Given the description of an element on the screen output the (x, y) to click on. 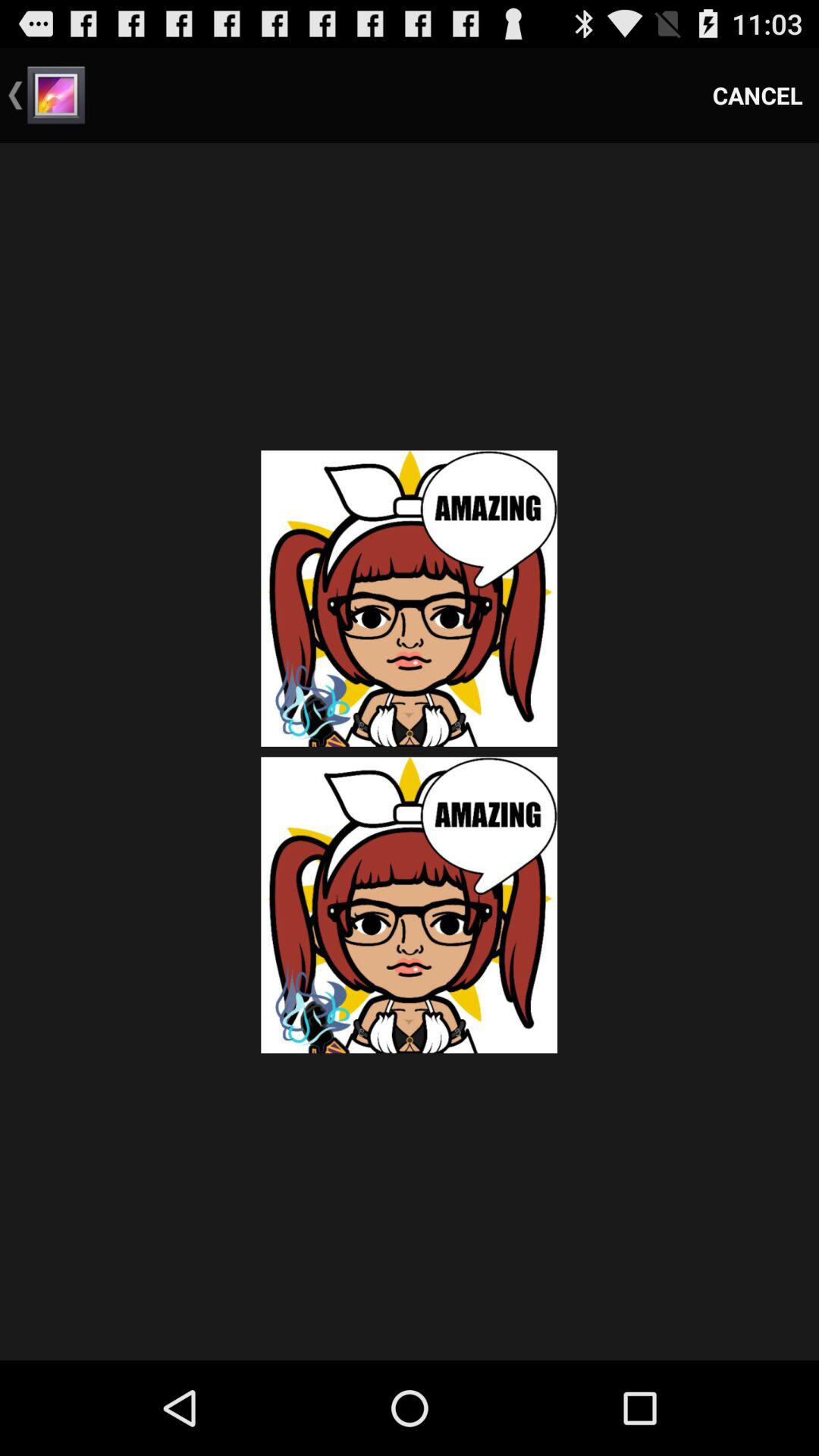
swipe to cancel icon (757, 95)
